Given the description of an element on the screen output the (x, y) to click on. 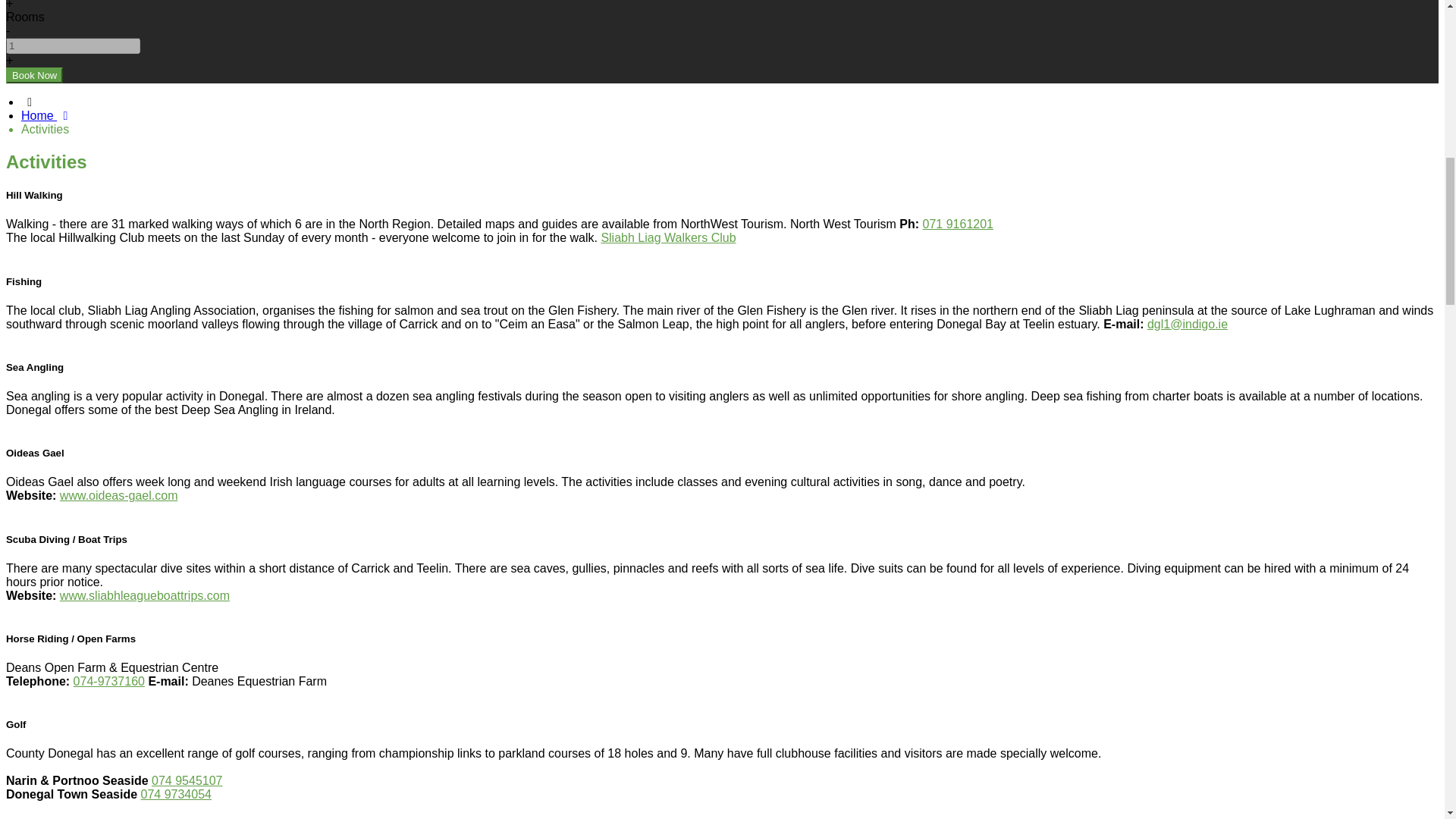
Home (47, 115)
www.oideas-gael.com (118, 495)
Sliabh Liag Walkers Club (667, 237)
1 (72, 45)
071 9161201 (957, 223)
Book Now (33, 75)
Book Now (33, 75)
